Given the description of an element on the screen output the (x, y) to click on. 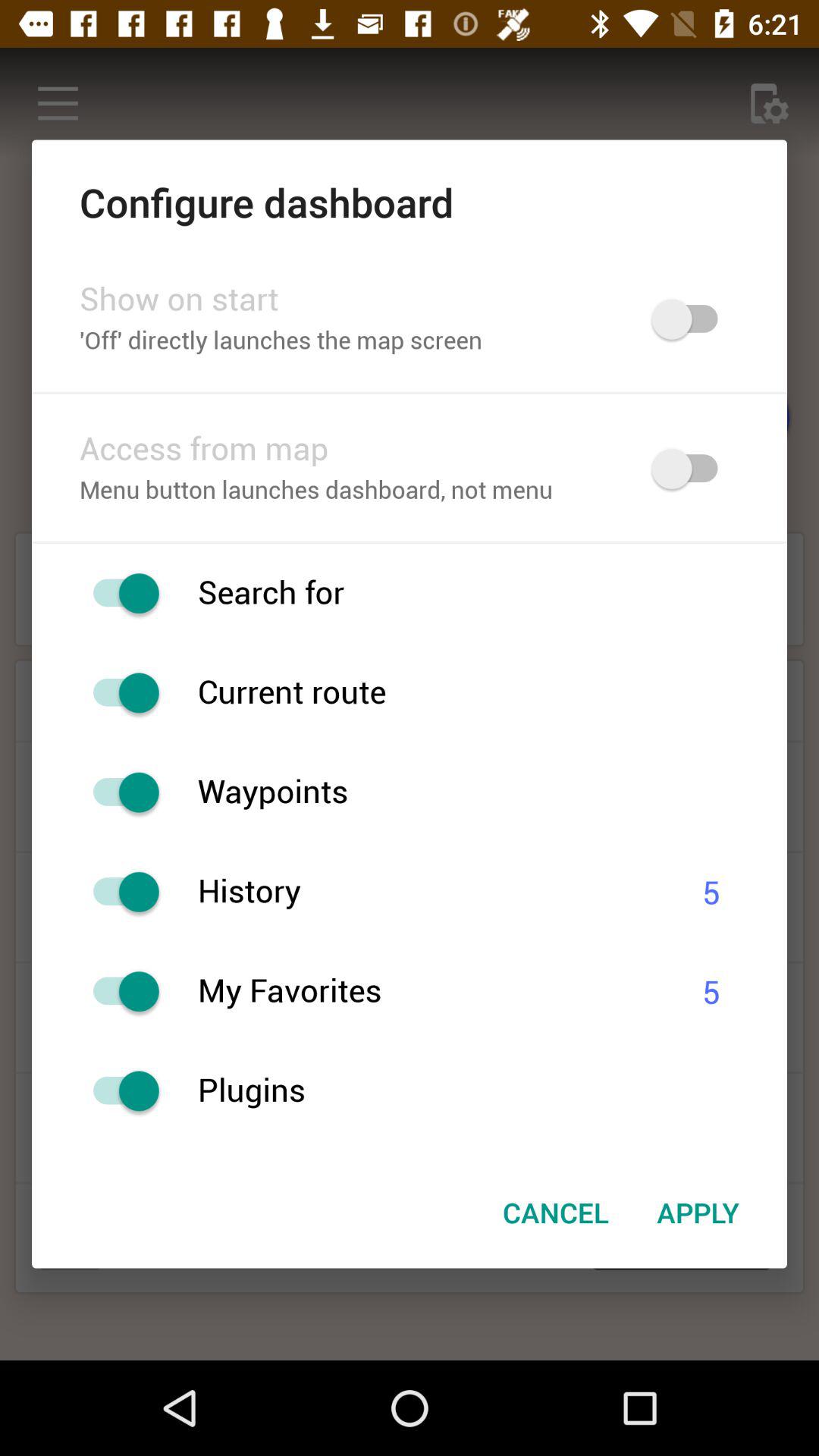
toggle my favorites (118, 991)
